Given the description of an element on the screen output the (x, y) to click on. 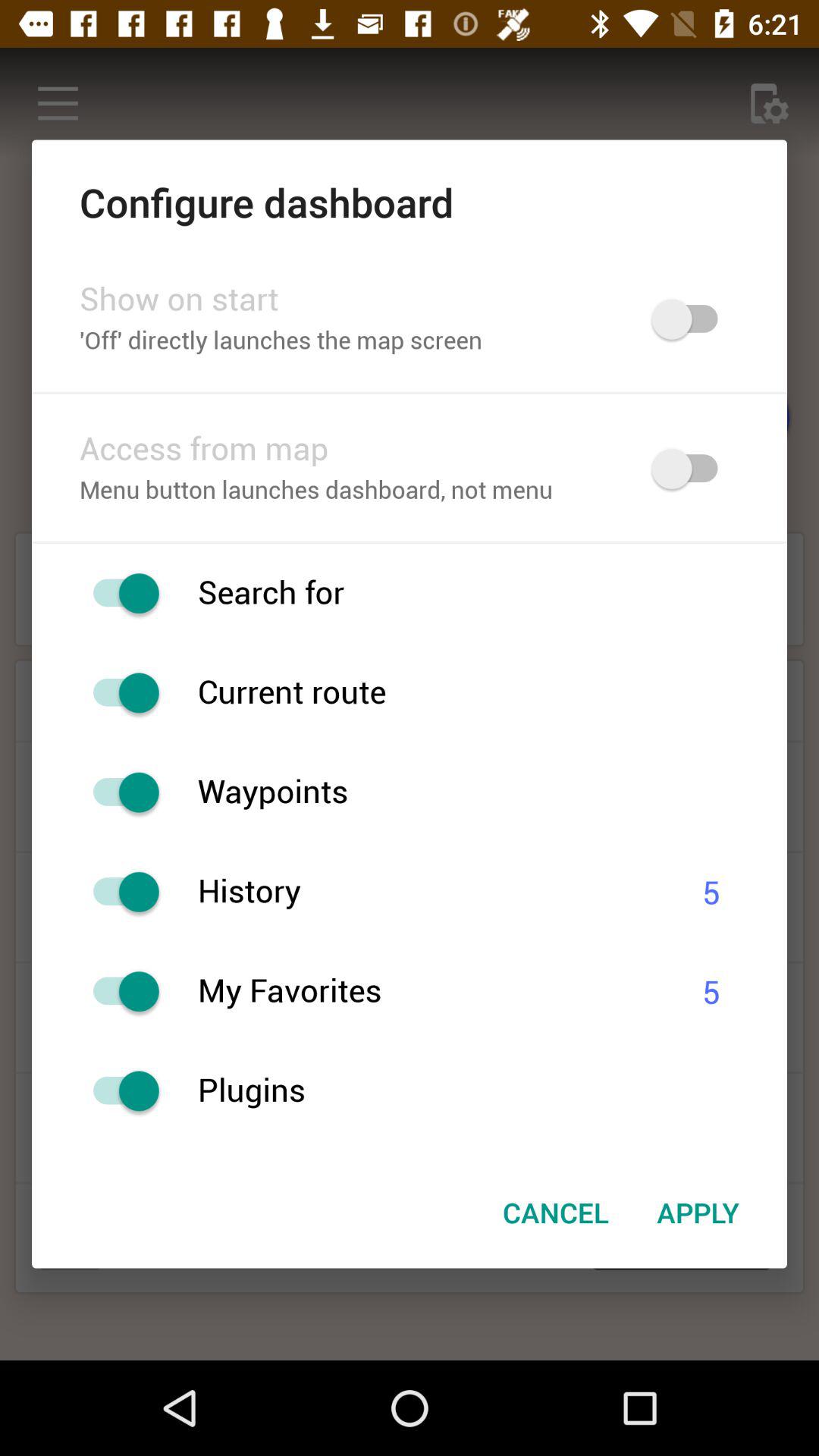
toggle my favorites (118, 991)
